Given the description of an element on the screen output the (x, y) to click on. 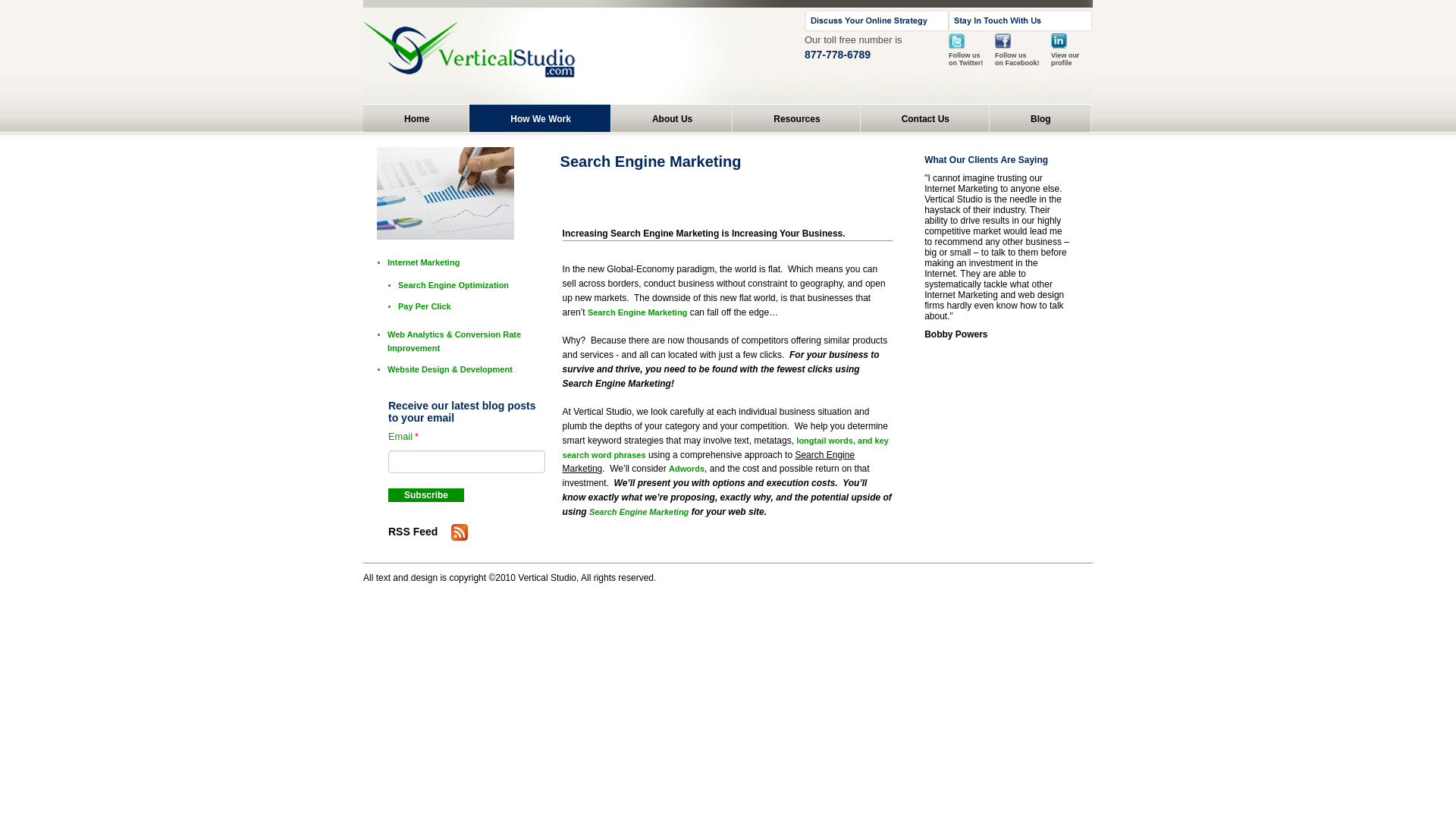
Search Engine Marketing (638, 511)
Adwords (686, 468)
Internet Marketing (423, 261)
Discuss your online strategy (877, 20)
RSS Feed (459, 532)
Search Engine Marketing (638, 511)
longtail words, and key search word phrases (725, 447)
verticalstudio (510, 55)
Contact Us (925, 117)
Adwords (686, 468)
Subscribe (426, 495)
Resources (796, 117)
Stay in touch With Us (1021, 20)
Pay Per Click (424, 306)
Search Engine Marketing (637, 311)
